Given the description of an element on the screen output the (x, y) to click on. 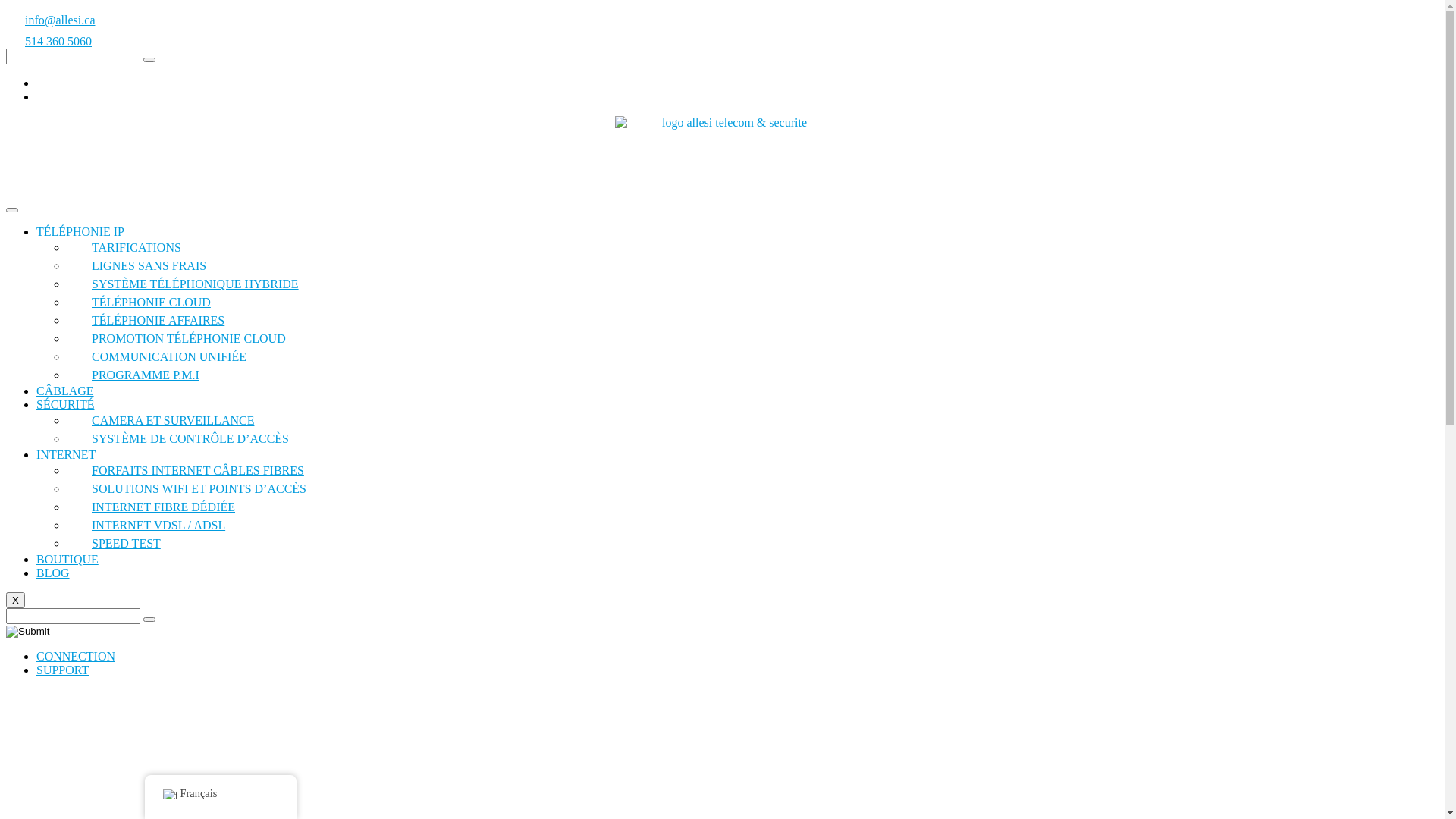
TARIFICATIONS Element type: text (143, 246)
INTERNET Element type: text (65, 454)
BOUTIQUE Element type: text (67, 558)
X Element type: text (15, 600)
info@allesi.ca Element type: text (728, 16)
PROGRAMME P.M.I Element type: text (152, 373)
SUPPORT Element type: text (62, 669)
CAMERA ET SURVEILLANCE Element type: text (180, 419)
BLOG Element type: text (52, 572)
INTERNET VDSL / ADSL Element type: text (165, 523)
514 360 5060 Element type: text (728, 37)
SPEED TEST Element type: text (133, 542)
CONNECTION Element type: text (75, 655)
LIGNES SANS FRAIS Element type: text (156, 264)
